Given the description of an element on the screen output the (x, y) to click on. 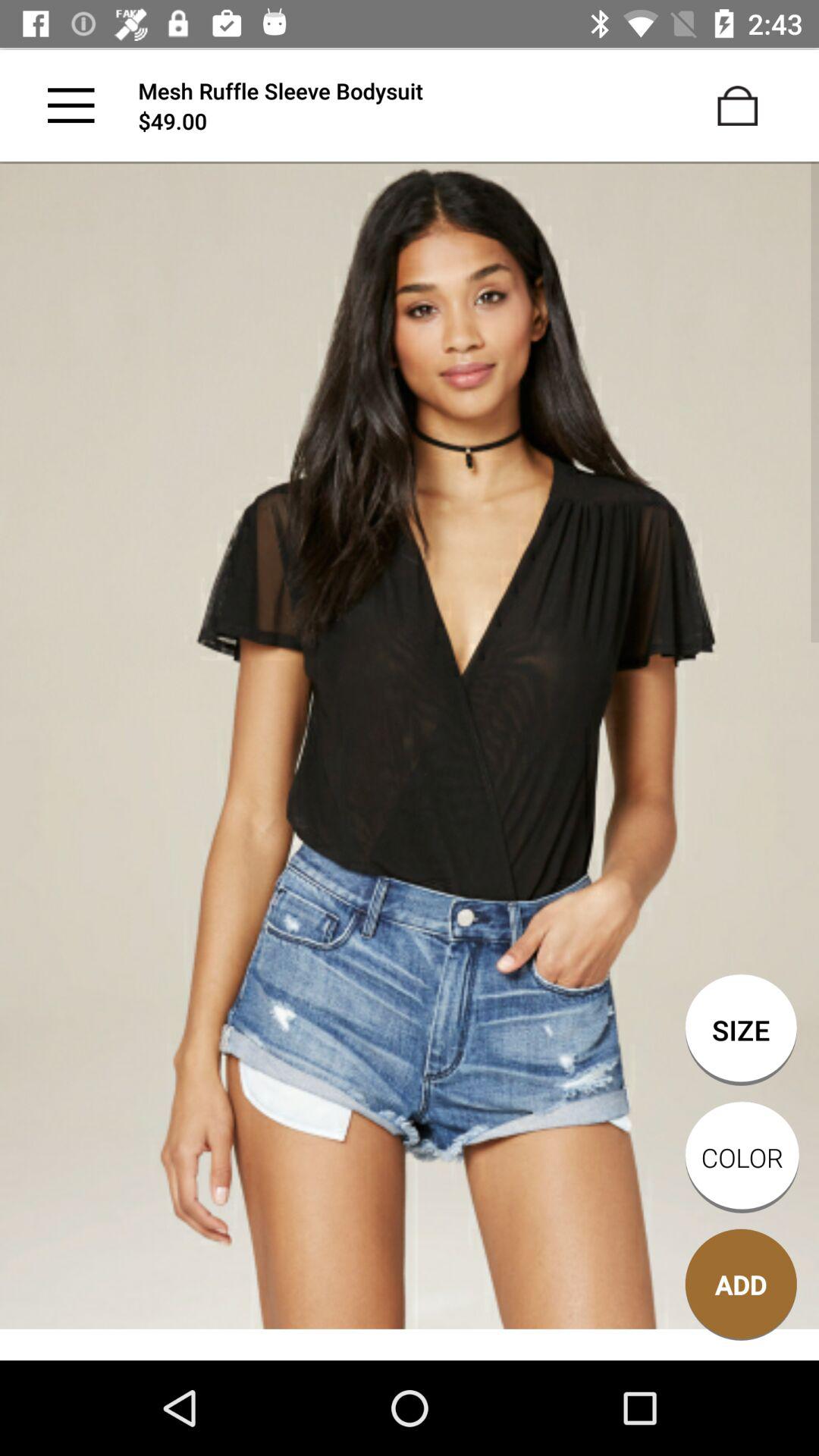
go to the main menu (70, 105)
